Given the description of an element on the screen output the (x, y) to click on. 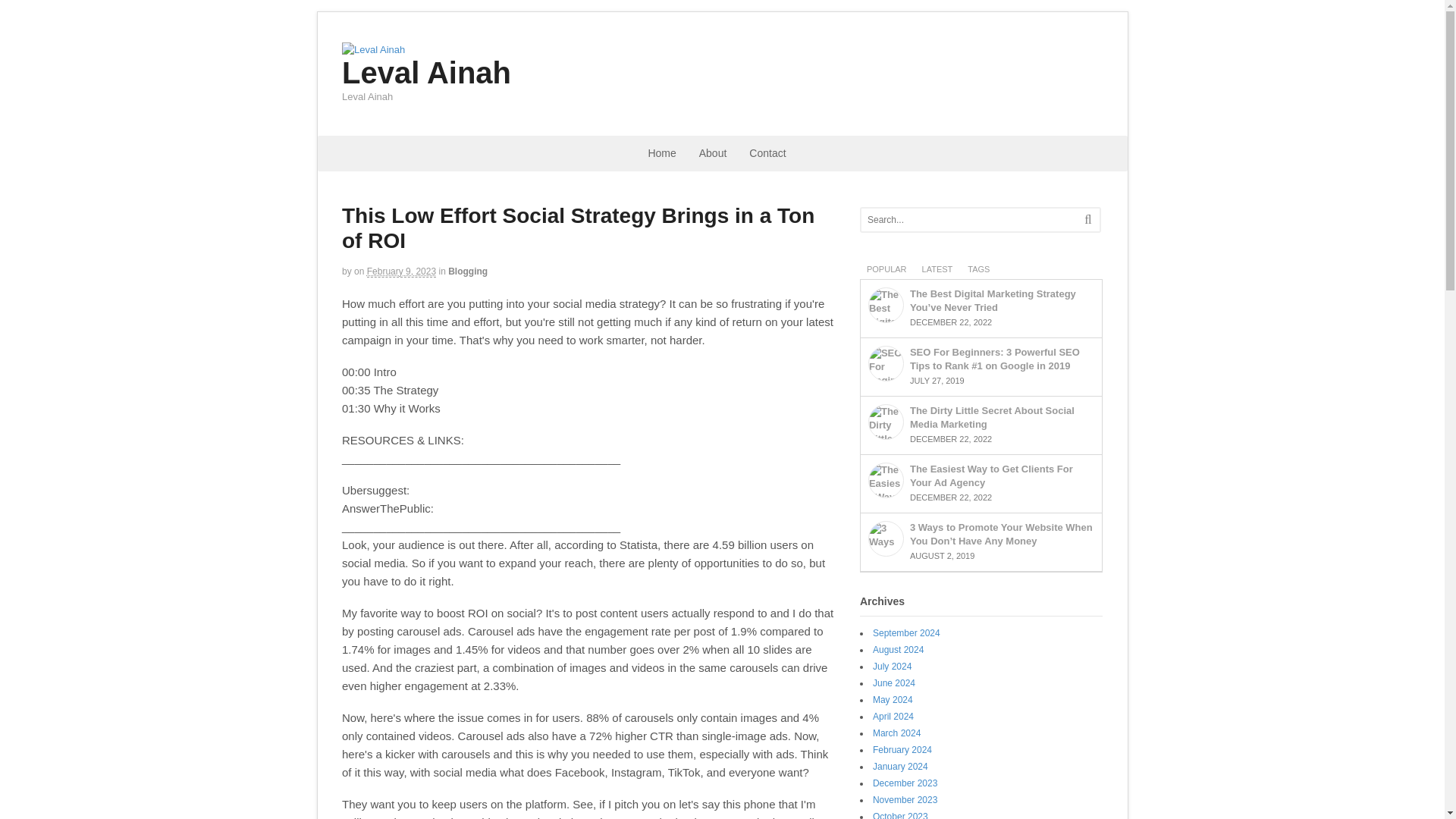
POPULAR (887, 268)
TAGS (977, 268)
Blogging (467, 271)
Leval Ainah (426, 72)
The Dirty Little Secret About Social Media Marketing (992, 416)
The Dirty Little Secret About Social Media Marketing (885, 421)
View all items in Blogging (467, 271)
Leval Ainah (373, 49)
LATEST (937, 268)
Search... (968, 219)
